Given the description of an element on the screen output the (x, y) to click on. 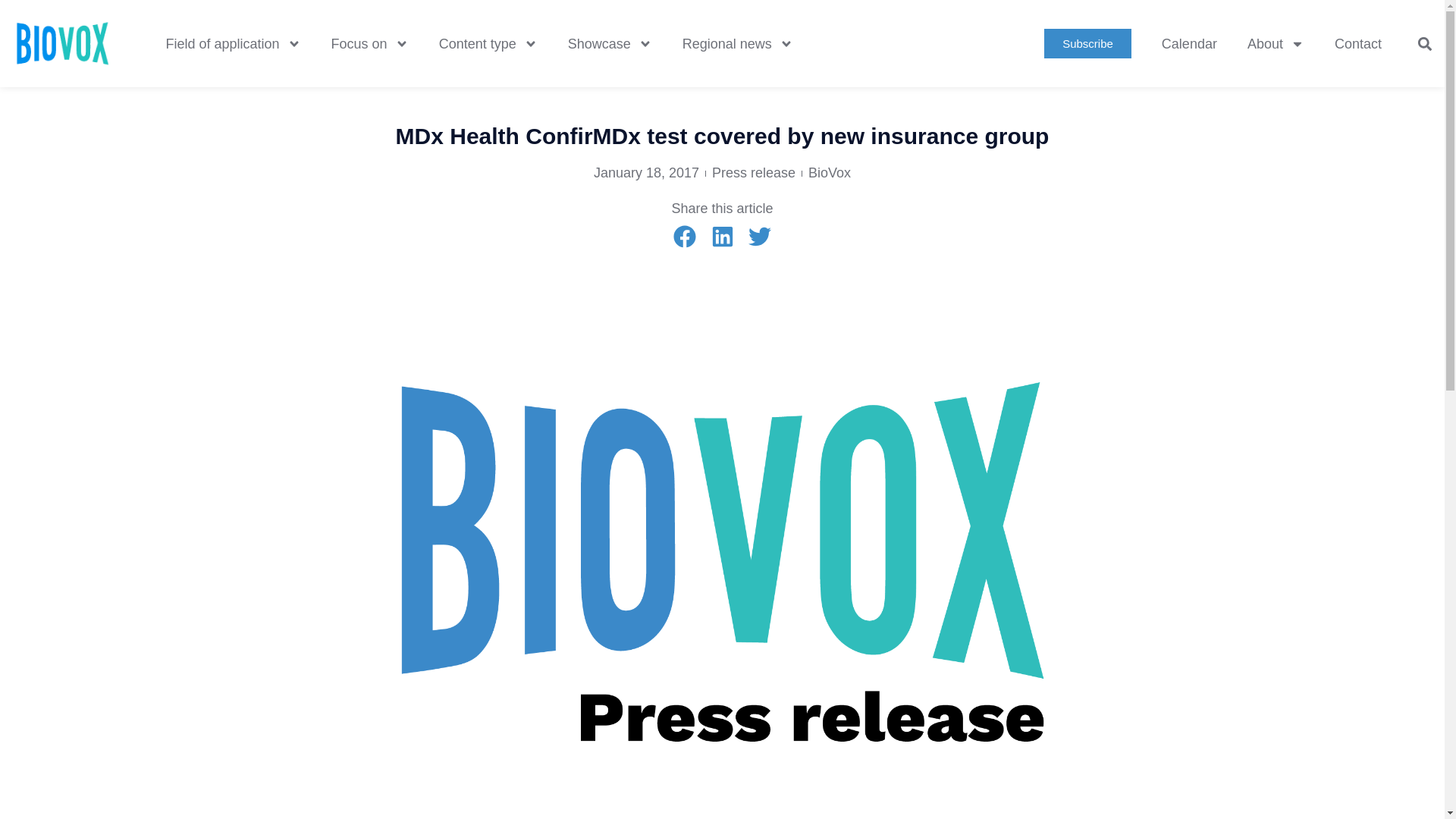
Showcase (609, 43)
Field of application (232, 43)
Focus on (369, 43)
Regional news (737, 43)
Content type (488, 43)
